Given the description of an element on the screen output the (x, y) to click on. 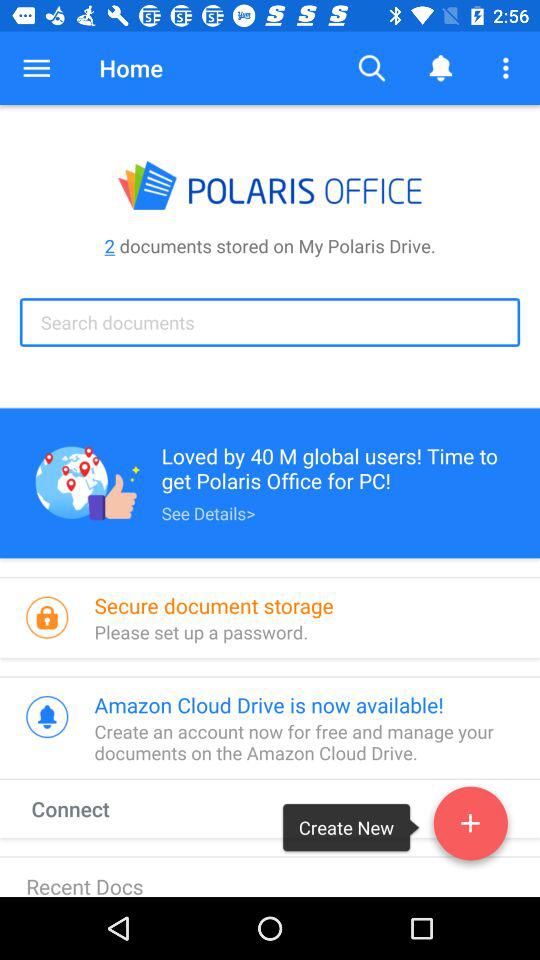
create new button (470, 827)
